Given the description of an element on the screen output the (x, y) to click on. 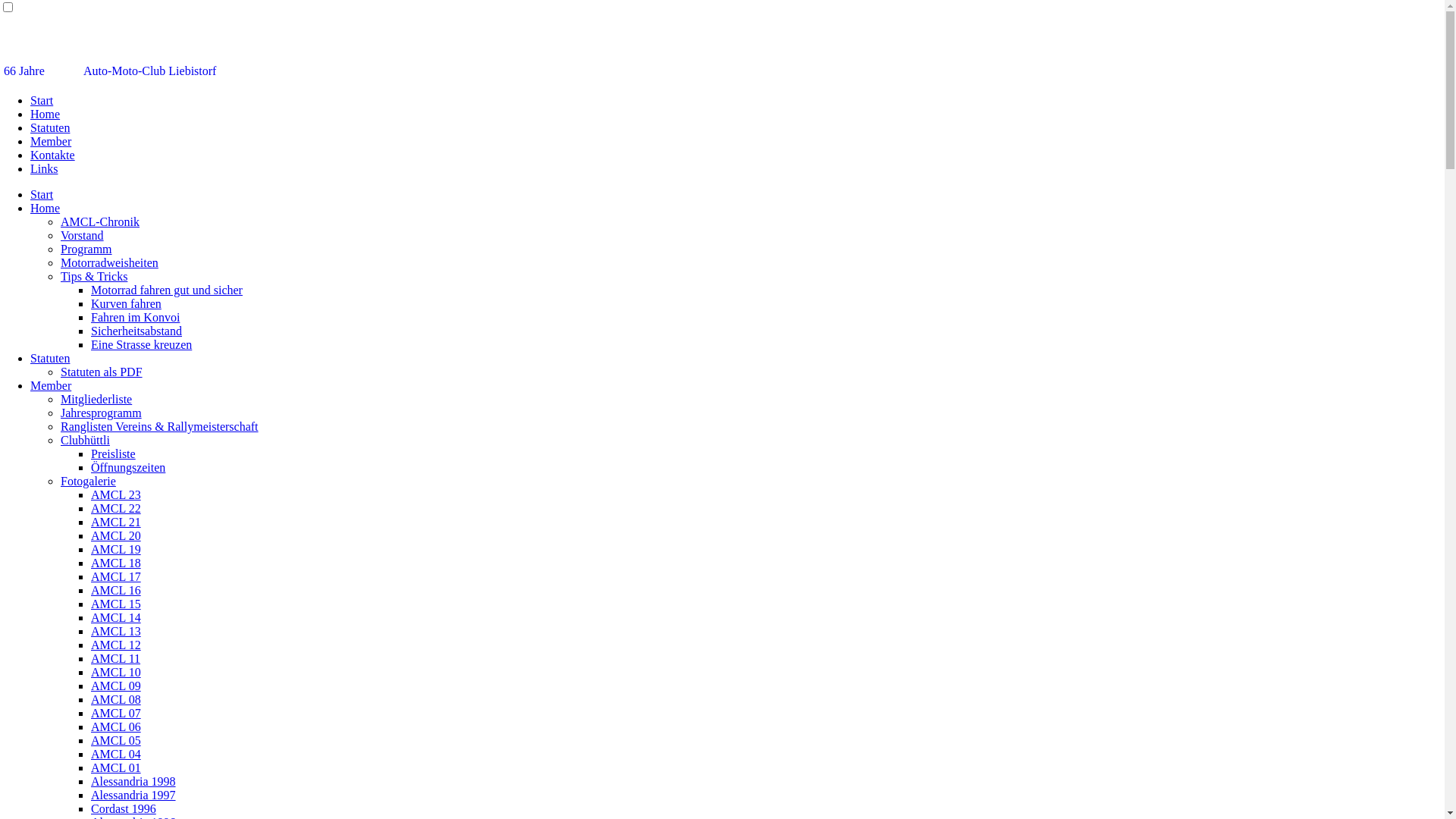
Motorradweisheiten Element type: text (109, 262)
Start Element type: text (41, 100)
AMCL 17 Element type: text (116, 576)
Statuten Element type: text (49, 127)
Fotogalerie Element type: text (88, 480)
Preisliste Element type: text (113, 453)
Links Element type: text (43, 168)
Programm Element type: text (86, 248)
AMCL 12 Element type: text (116, 644)
Mitgliederliste Element type: text (95, 398)
Kontakte Element type: text (52, 154)
AMCL 13 Element type: text (116, 630)
Member Element type: text (50, 140)
66 Jahre             Auto-Moto-Club Liebistorf Element type: text (109, 70)
AMCL 16 Element type: text (116, 589)
AMCL 23 Element type: text (116, 494)
Start Element type: text (41, 194)
Motorrad fahren gut und sicher Element type: text (166, 289)
Alessandria 1997 Element type: text (133, 794)
AMCL 11 Element type: text (115, 658)
Home Element type: text (44, 207)
AMCL 14 Element type: text (116, 617)
AMCL 07 Element type: text (116, 712)
AMCL 04 Element type: text (116, 753)
Ranglisten Vereins & Rallymeisterschaft Element type: text (159, 426)
AMCL 05 Element type: text (116, 740)
Jahresprogramm Element type: text (100, 412)
Member Element type: text (50, 385)
Statuten als PDF Element type: text (101, 371)
AMCL 19 Element type: text (116, 548)
Fahren im Konvoi Element type: text (135, 316)
Statuten Element type: text (49, 357)
AMCL 09 Element type: text (116, 685)
AMCL 20 Element type: text (116, 535)
AMCL-Chronik Element type: text (99, 221)
Alessandria 1998 Element type: text (133, 781)
Tips & Tricks Element type: text (93, 275)
AMCL 18 Element type: text (116, 562)
Sicherheitsabstand Element type: text (136, 330)
Home Element type: text (44, 113)
Eine Strasse kreuzen Element type: text (141, 344)
AMCL 06 Element type: text (116, 726)
AMCL 22 Element type: text (116, 508)
AMCL 21 Element type: text (116, 521)
AMCL 15 Element type: text (116, 603)
Kurven fahren Element type: text (126, 303)
Cordast 1996 Element type: text (123, 808)
AMCL 08 Element type: text (116, 699)
Vorstand Element type: text (81, 235)
AMCL 10 Element type: text (116, 671)
AMCL 01 Element type: text (116, 767)
